Given the description of an element on the screen output the (x, y) to click on. 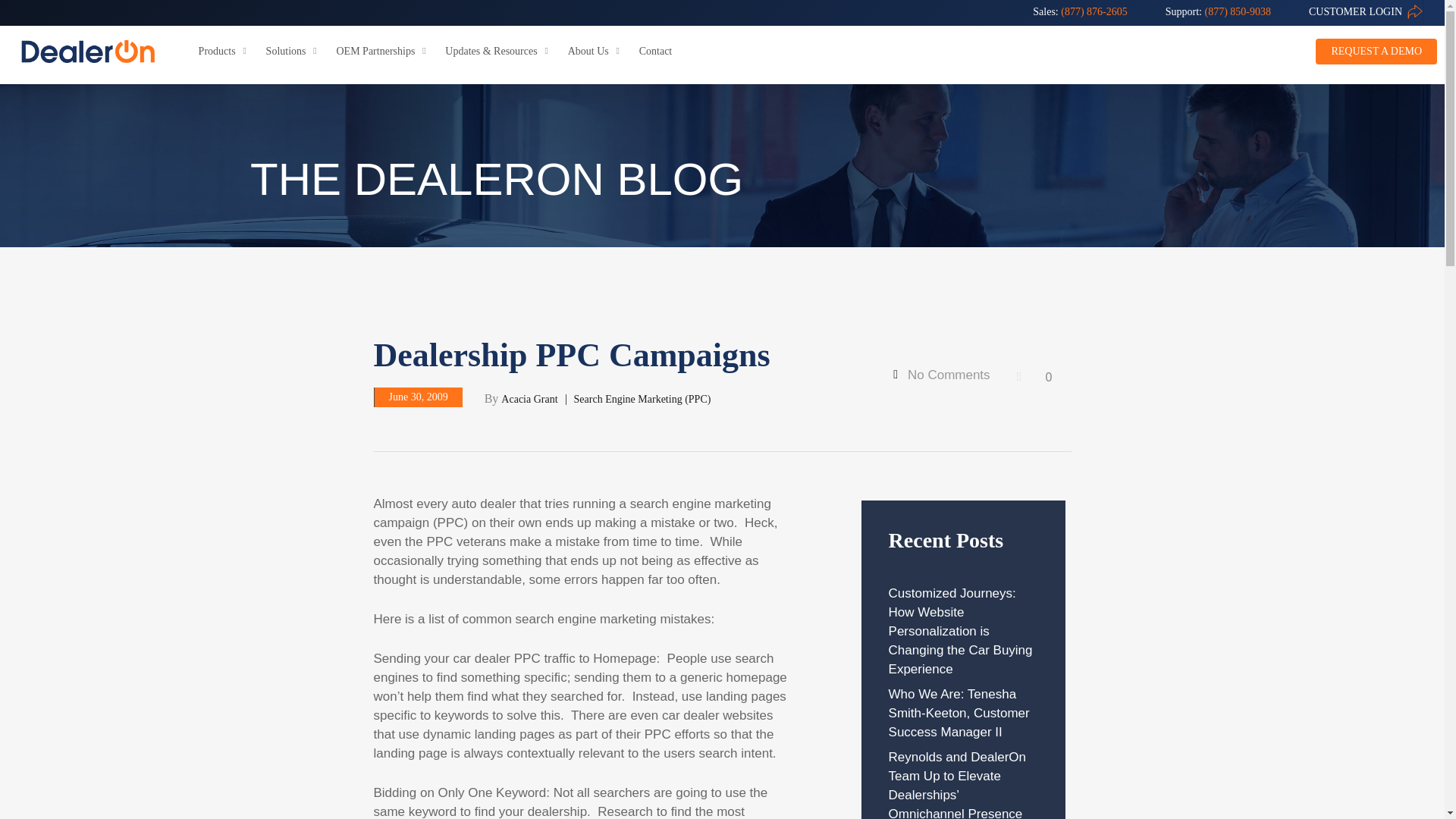
Love this (1032, 377)
Products (224, 51)
CUSTOMER LOGIN (1356, 11)
OEM Partnerships (383, 51)
Solutions (293, 51)
Posts by Acacia Grant (528, 399)
